Given the description of an element on the screen output the (x, y) to click on. 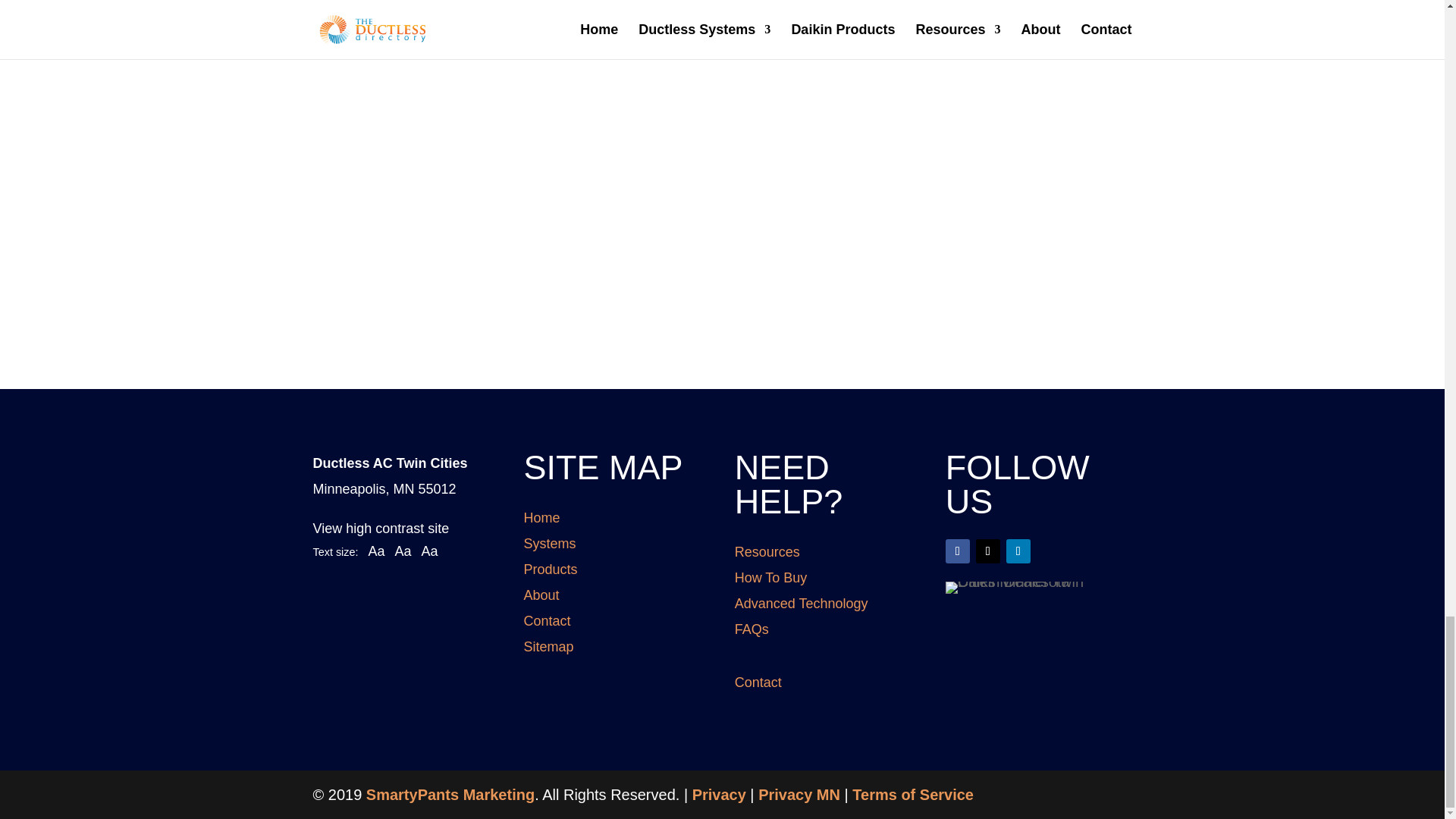
Home (542, 517)
Contact (547, 620)
Products (551, 569)
About (541, 595)
Follow on LinkedIn (1018, 550)
How To Buy (771, 577)
Sitemap (548, 646)
Follow on Twitter (987, 550)
Resources (767, 551)
Follow on Facebook (956, 550)
Systems (550, 543)
